Given the description of an element on the screen output the (x, y) to click on. 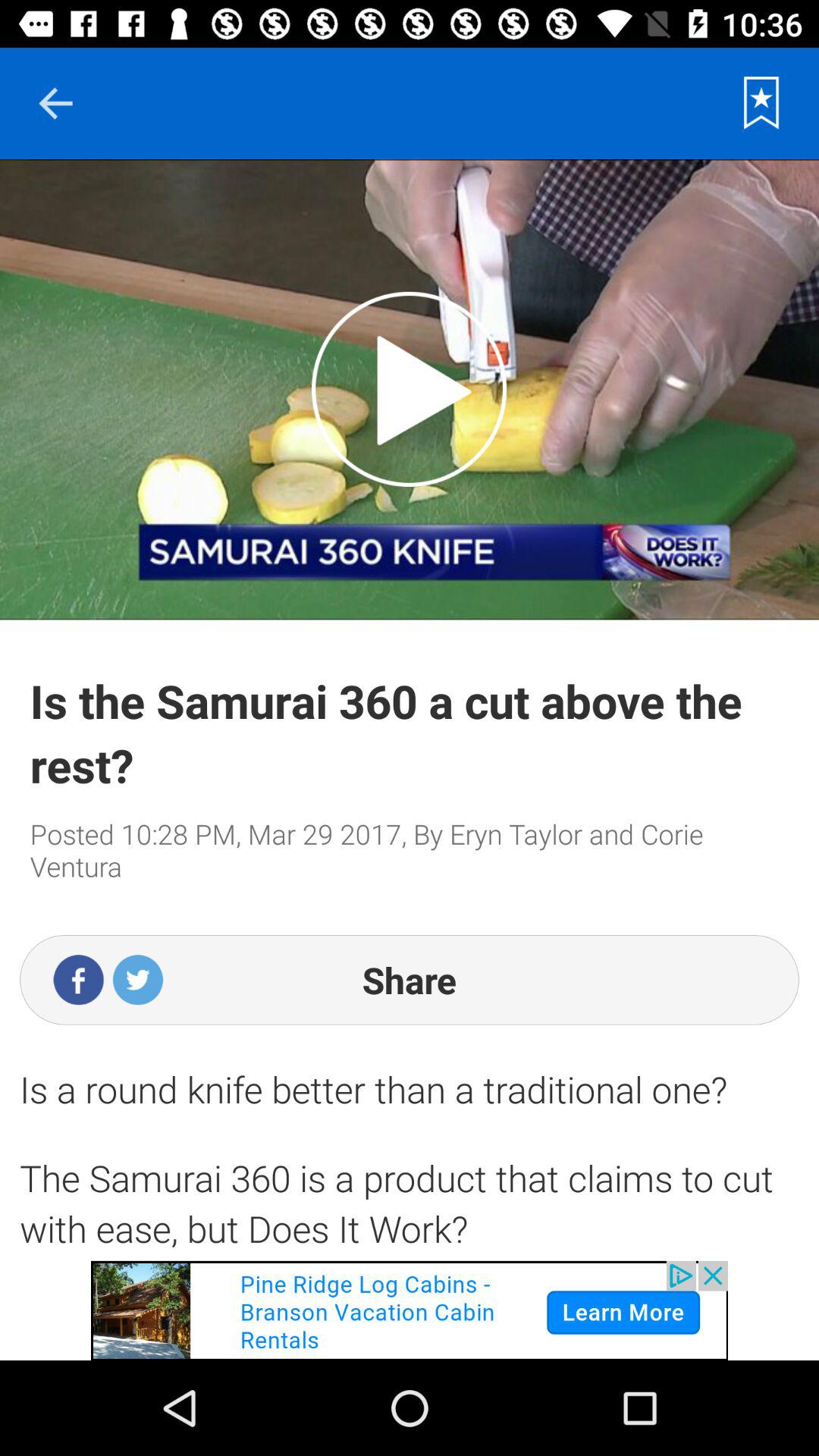
favorite (761, 102)
